Given the description of an element on the screen output the (x, y) to click on. 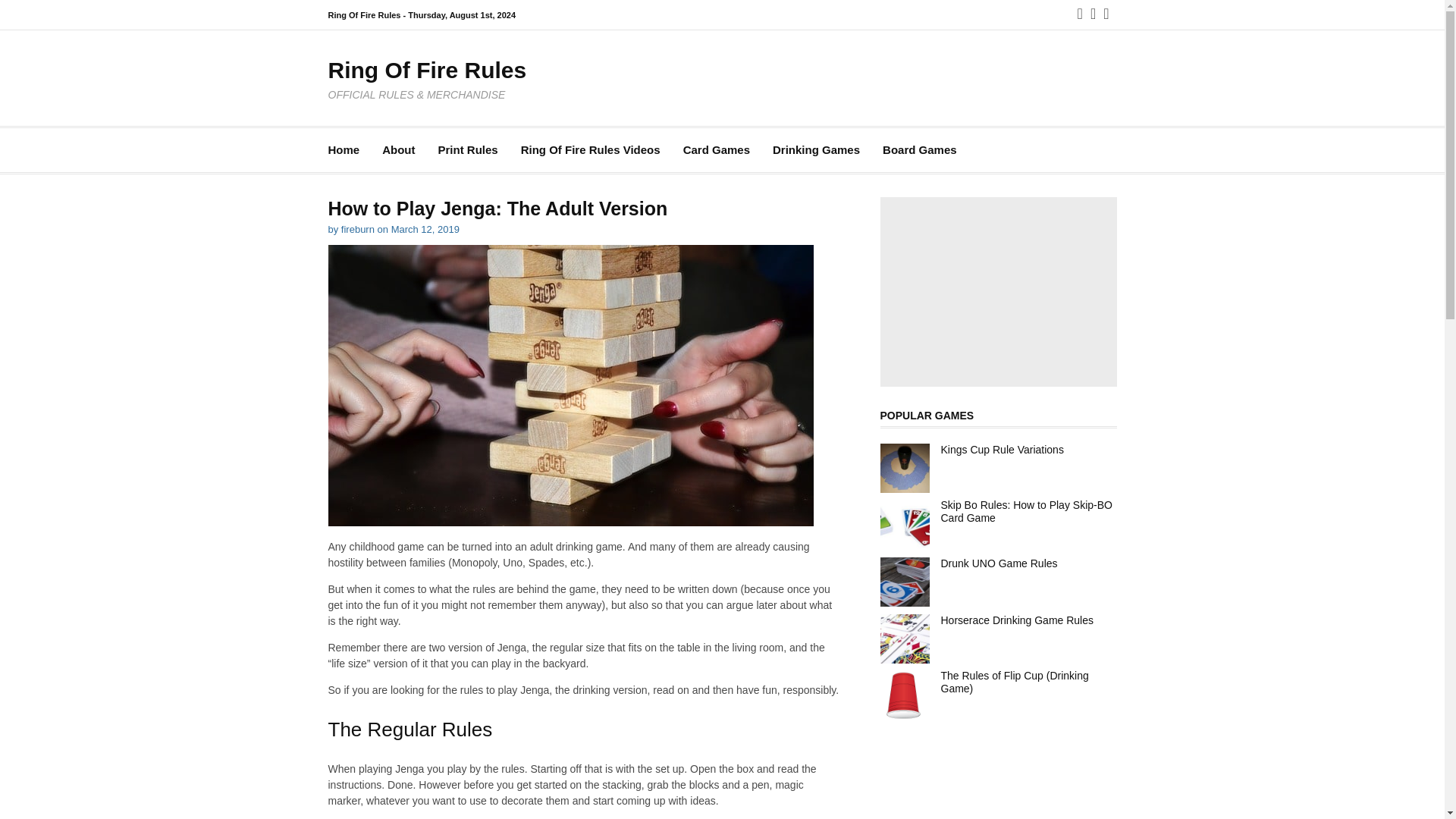
Kings Cup Rule Variations (1001, 449)
Card Games (715, 149)
Drunk UNO Game Rules (998, 563)
Ring Of Fire Rules (426, 69)
Drinking Games (816, 149)
Horserace Drinking Game Rules (1016, 620)
Skip Bo Rules: How to Play Skip-BO Card Game (1026, 511)
Advertisement (997, 291)
Skip Bo Rules: How to Play Skip-BO Card Game (1026, 511)
Print Rules (467, 149)
Kings Cup Rule Variations (1001, 449)
March 12, 2019 (425, 229)
fireburn (357, 229)
Drunk UNO Game Rules (998, 563)
Board Games (919, 149)
